Given the description of an element on the screen output the (x, y) to click on. 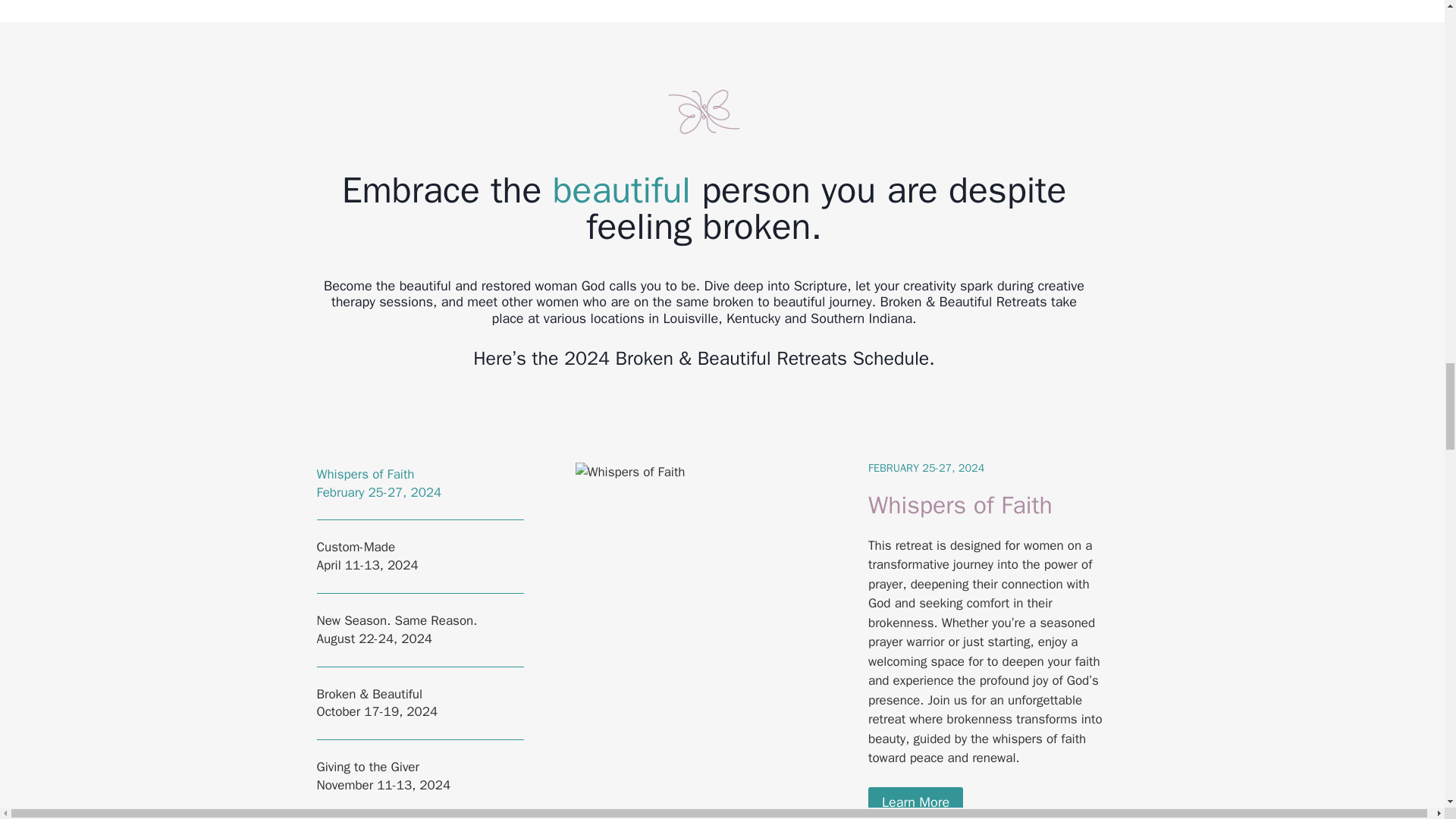
Learn More (914, 802)
